Given the description of an element on the screen output the (x, y) to click on. 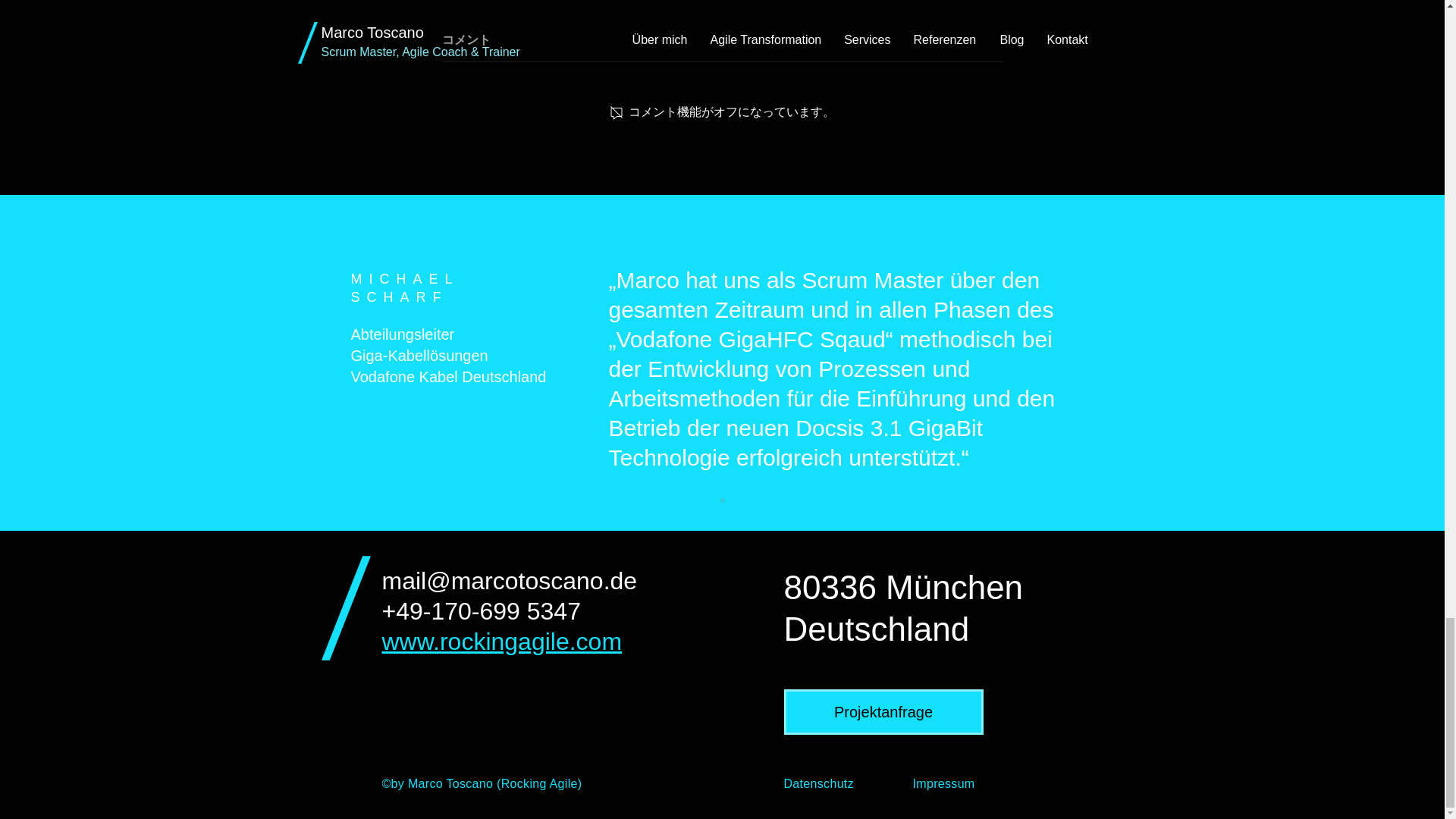
www.rockingagile.com (502, 641)
Impressum (943, 783)
Datenschutz (818, 783)
Projektanfrage (884, 711)
